Given the description of an element on the screen output the (x, y) to click on. 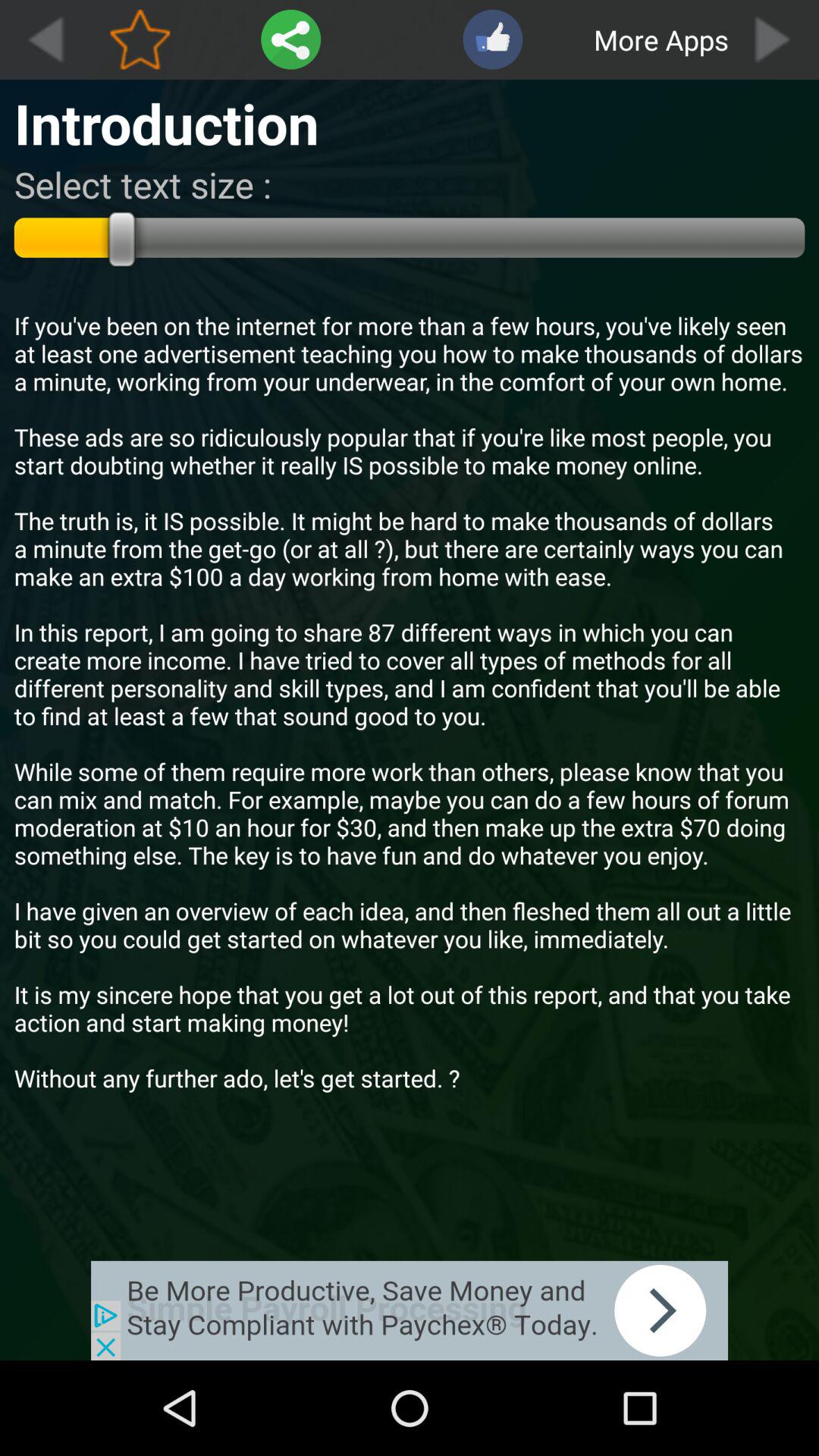
thumbs up button (492, 39)
